Given the description of an element on the screen output the (x, y) to click on. 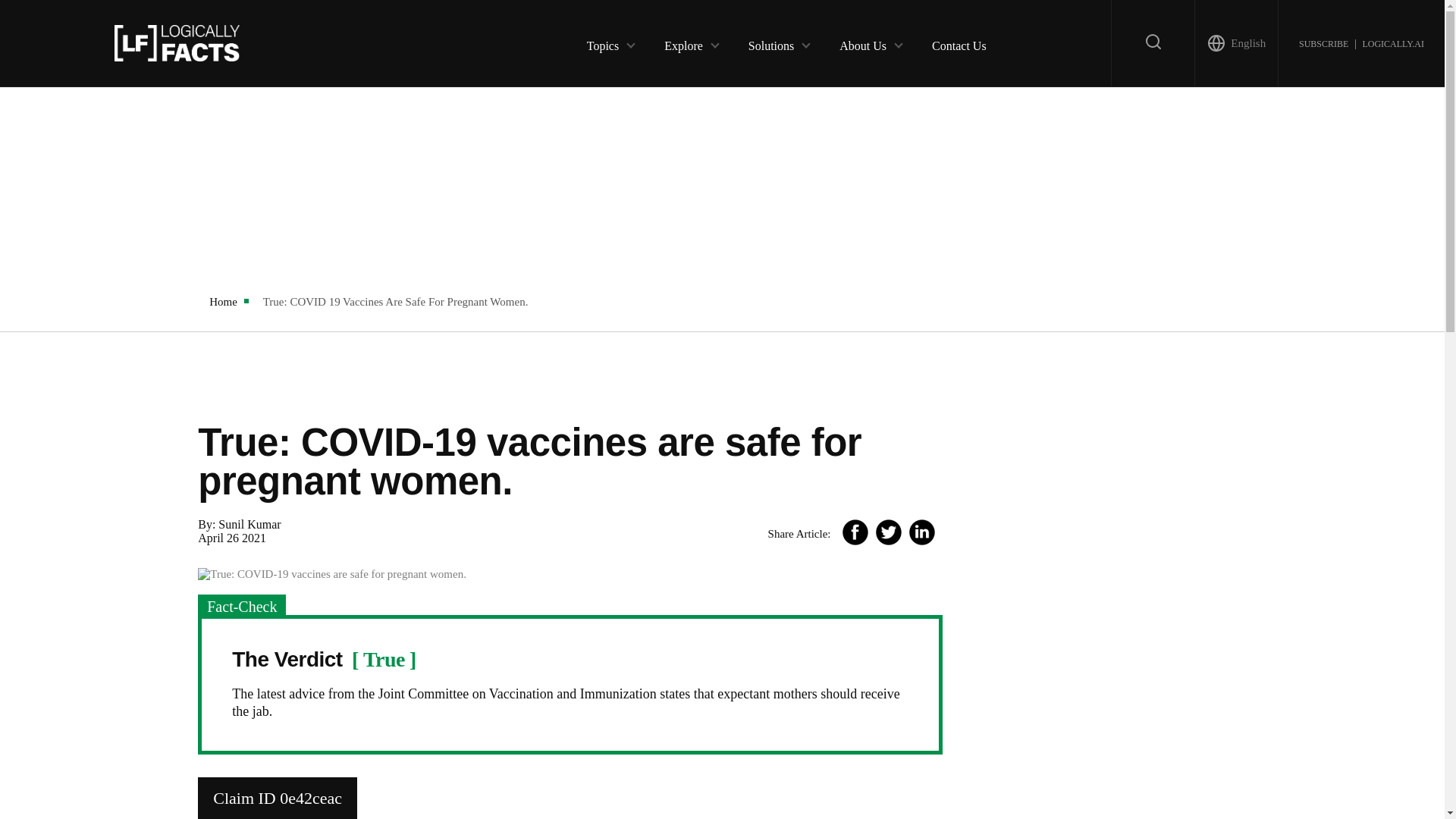
Topics (602, 42)
SUBSCRIBE (1323, 42)
Explore (683, 42)
Solutions (770, 42)
About Us (863, 42)
Contact Us (959, 42)
Home (223, 301)
LOGICALLY.AI (1392, 42)
